Given the description of an element on the screen output the (x, y) to click on. 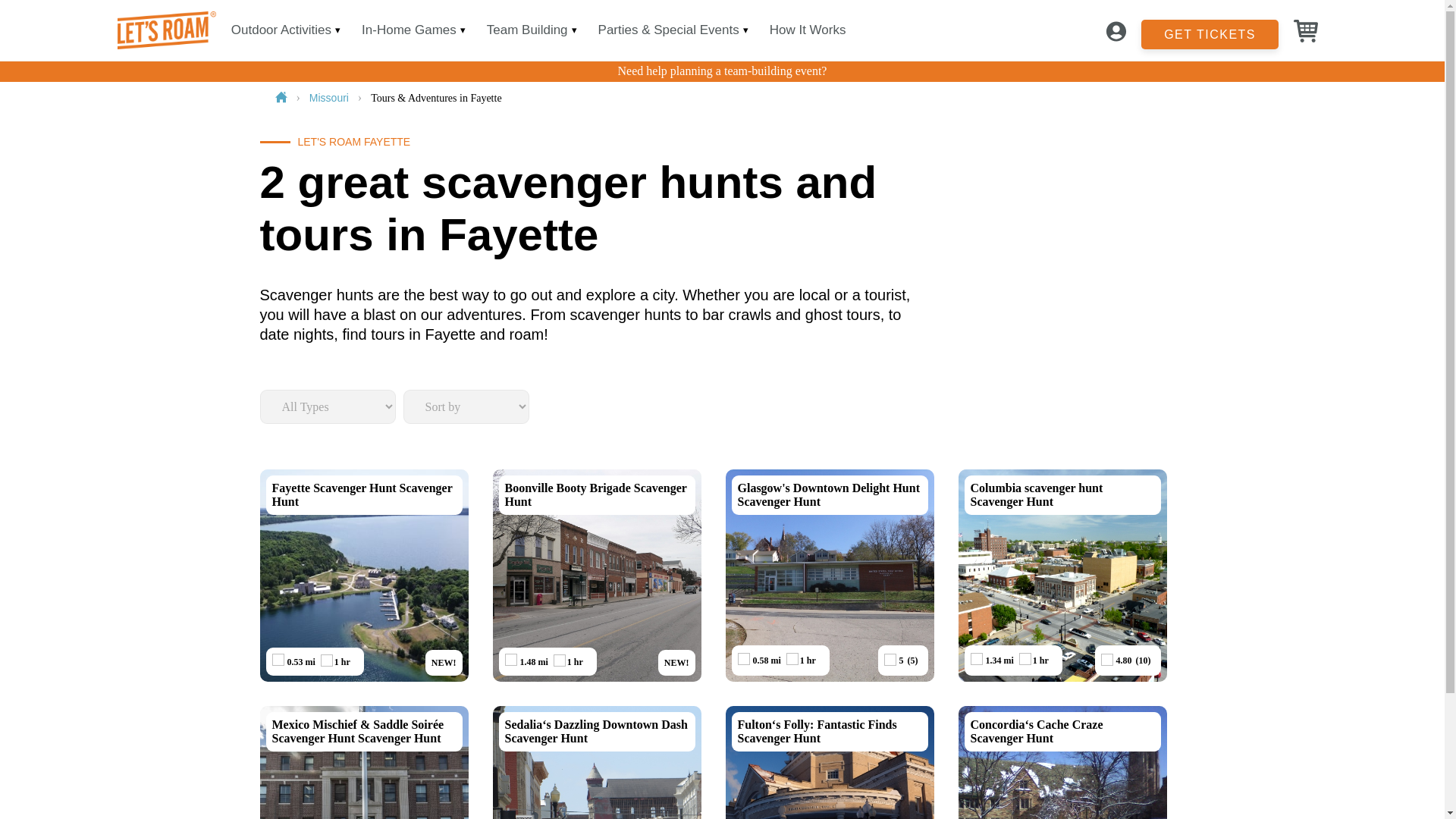
Outdoor Activities (363, 575)
Team Building (280, 30)
GET TICKETS (597, 575)
How It Works (527, 30)
Missouri (1209, 34)
GET TICKETS (807, 30)
Let's Roam Scavenger Hunts (330, 97)
Outdoor Activities (1209, 30)
